Given the description of an element on the screen output the (x, y) to click on. 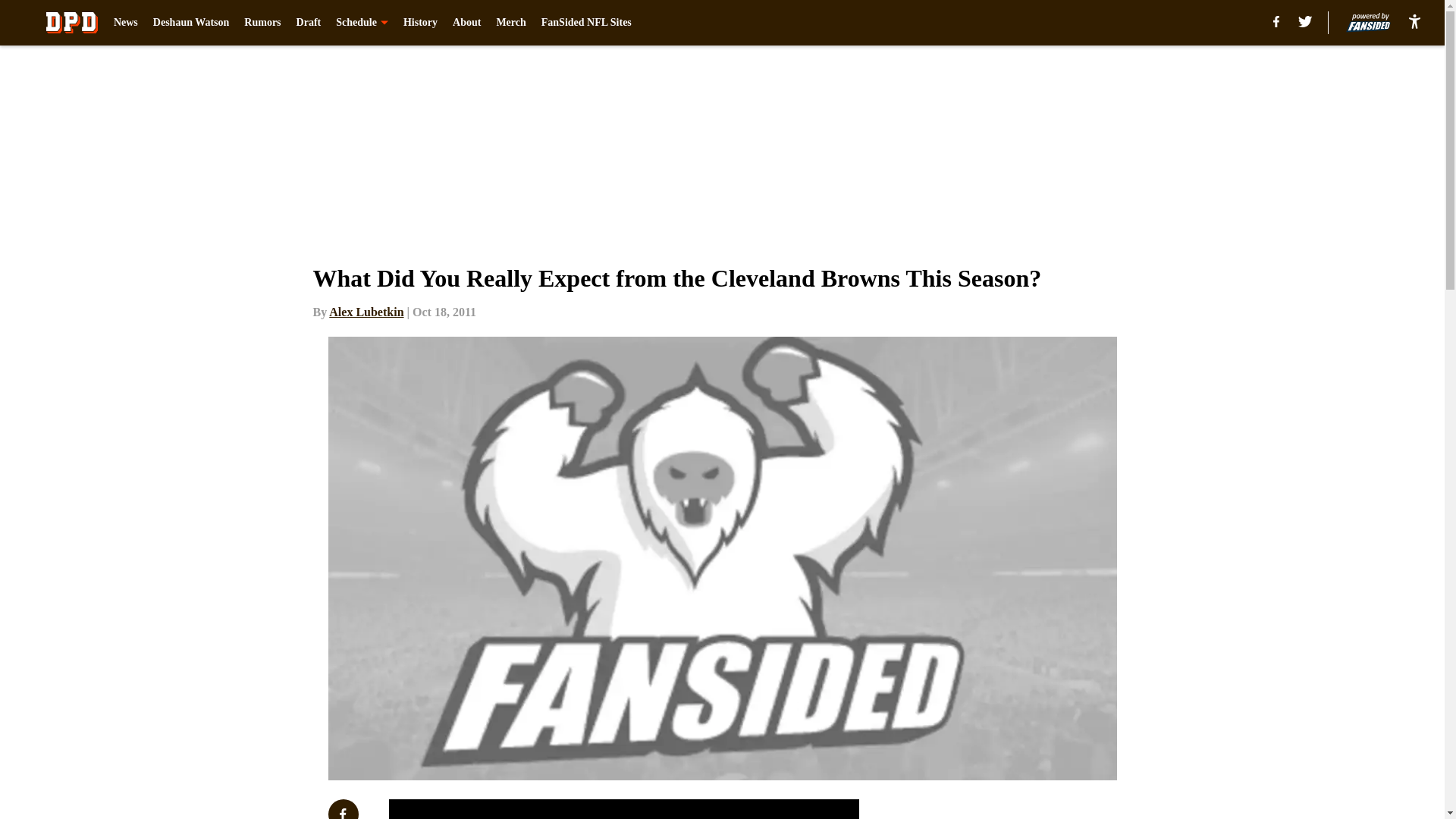
About (466, 22)
FanSided NFL Sites (586, 22)
History (420, 22)
Merch (510, 22)
Alex Lubetkin (366, 311)
Draft (309, 22)
Rumors (262, 22)
News (125, 22)
Deshaun Watson (191, 22)
